Given the description of an element on the screen output the (x, y) to click on. 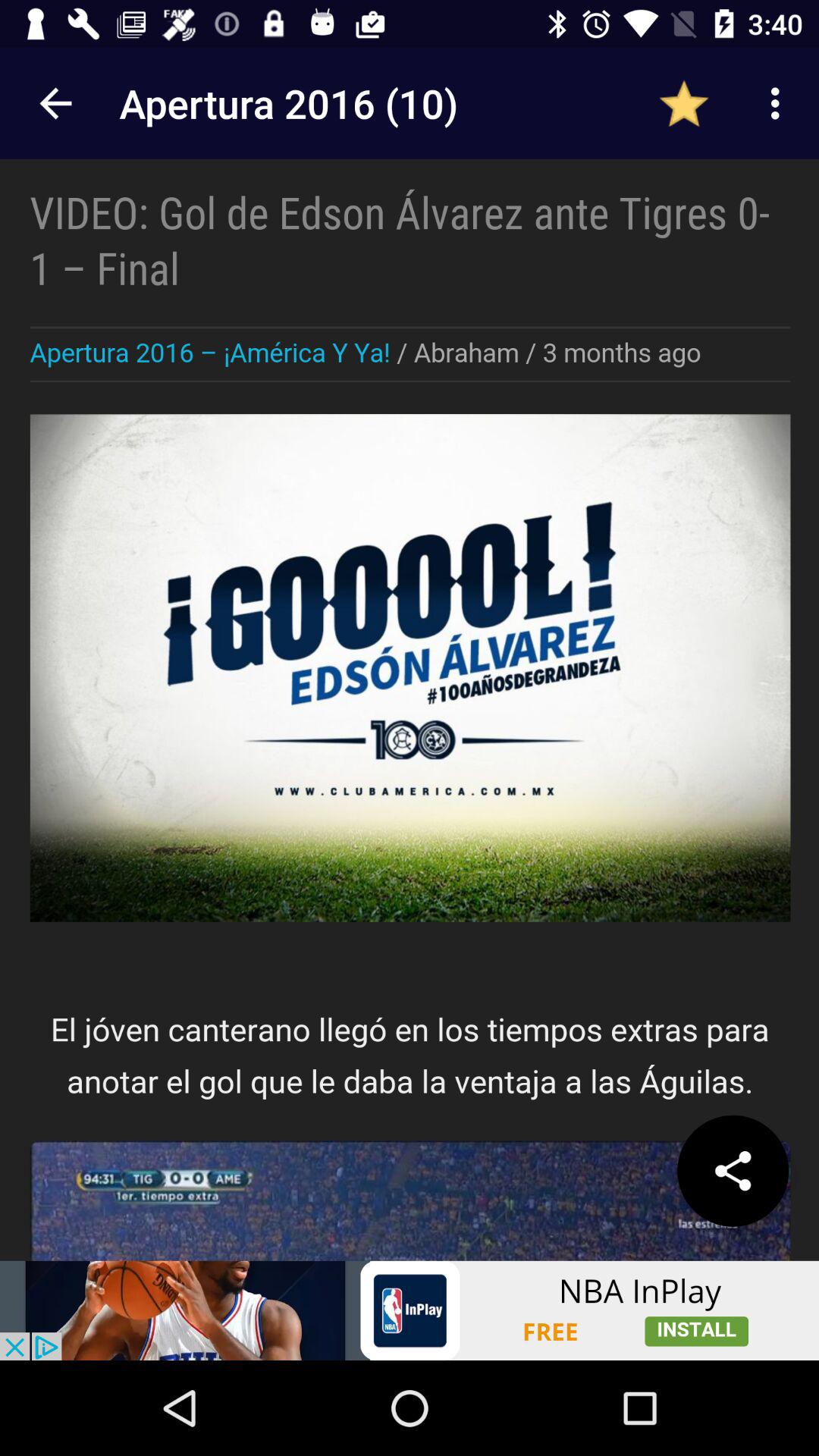
advertiser banner (409, 1310)
